Given the description of an element on the screen output the (x, y) to click on. 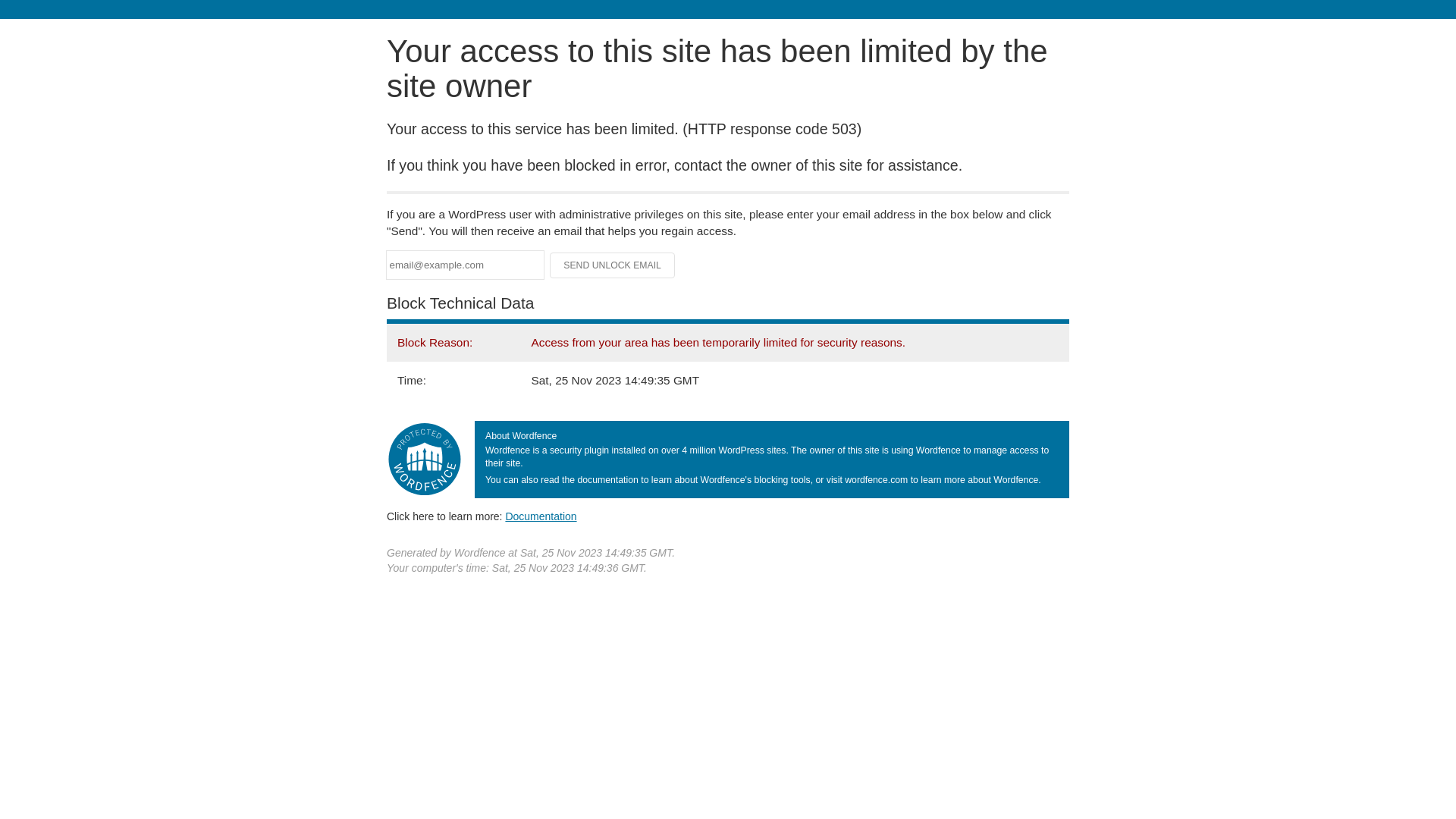
Send Unlock Email Element type: text (612, 265)
Documentation Element type: text (540, 516)
